Given the description of an element on the screen output the (x, y) to click on. 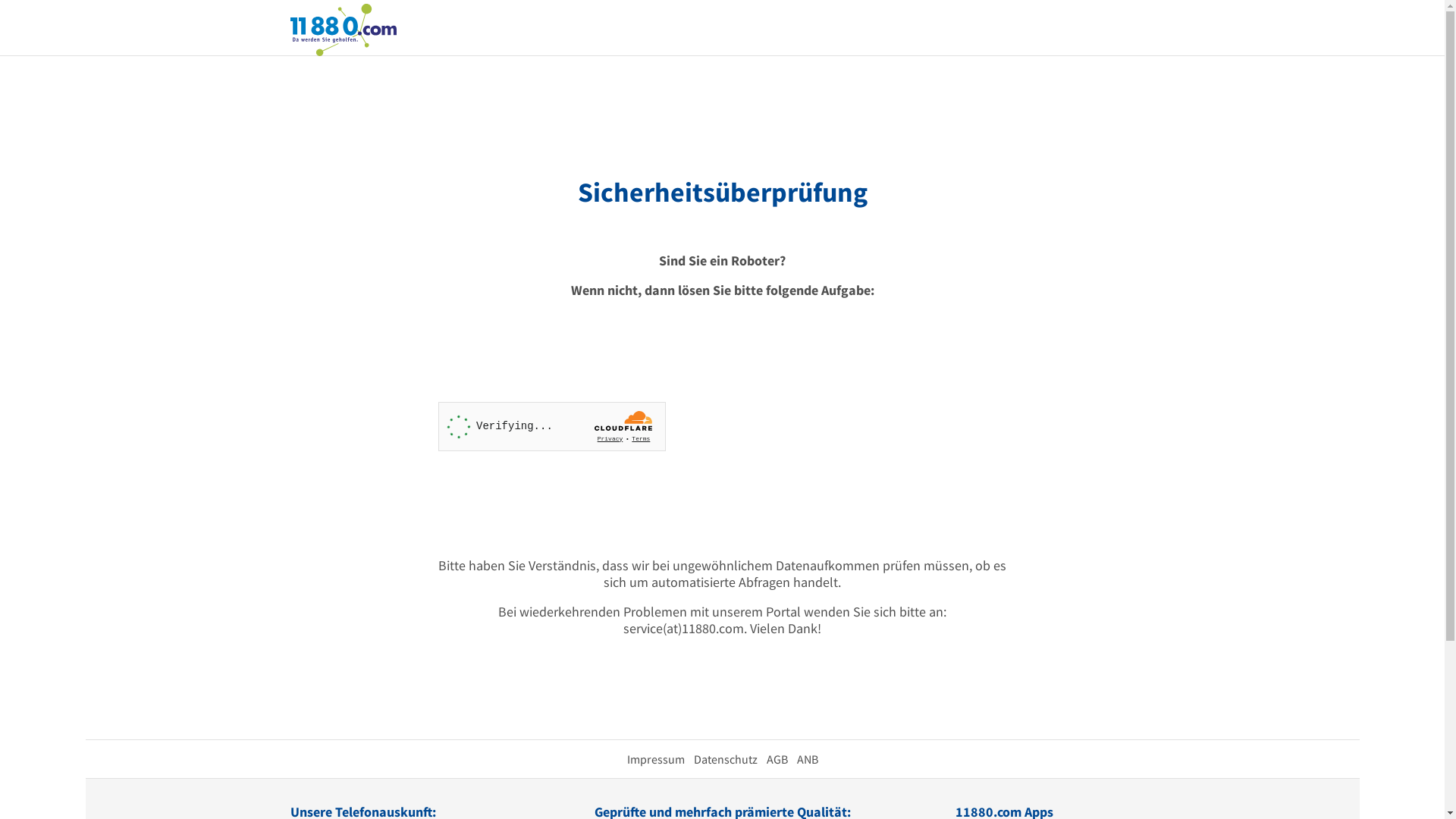
Datenschutz Element type: text (724, 758)
11880.com Element type: hover (342, 28)
Impressum Element type: text (655, 758)
AGB Element type: text (776, 758)
Widget containing a Cloudflare security challenge Element type: hover (551, 426)
ANB Element type: text (806, 758)
